Given the description of an element on the screen output the (x, y) to click on. 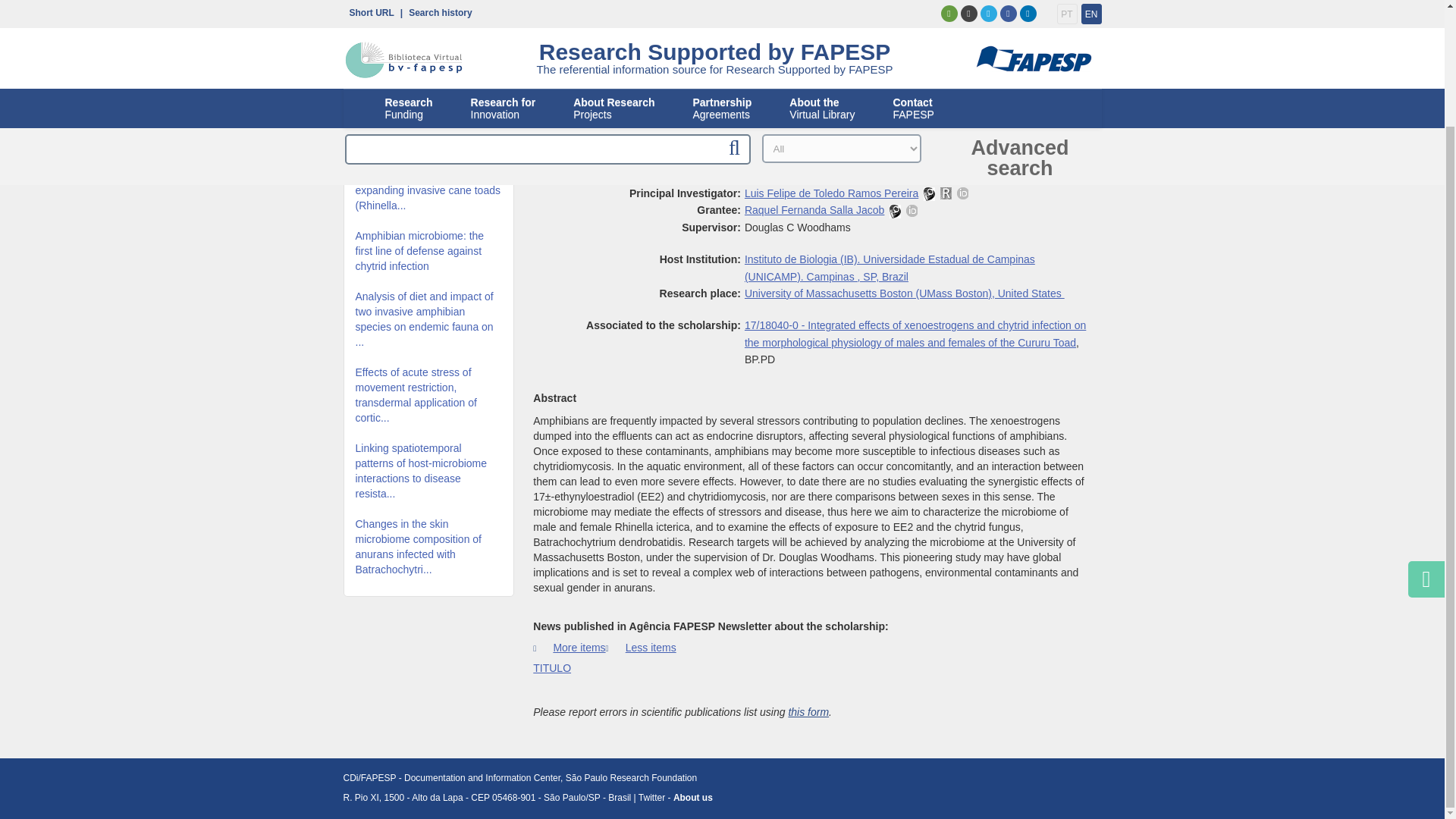
Host Institution (889, 267)
